Given the description of an element on the screen output the (x, y) to click on. 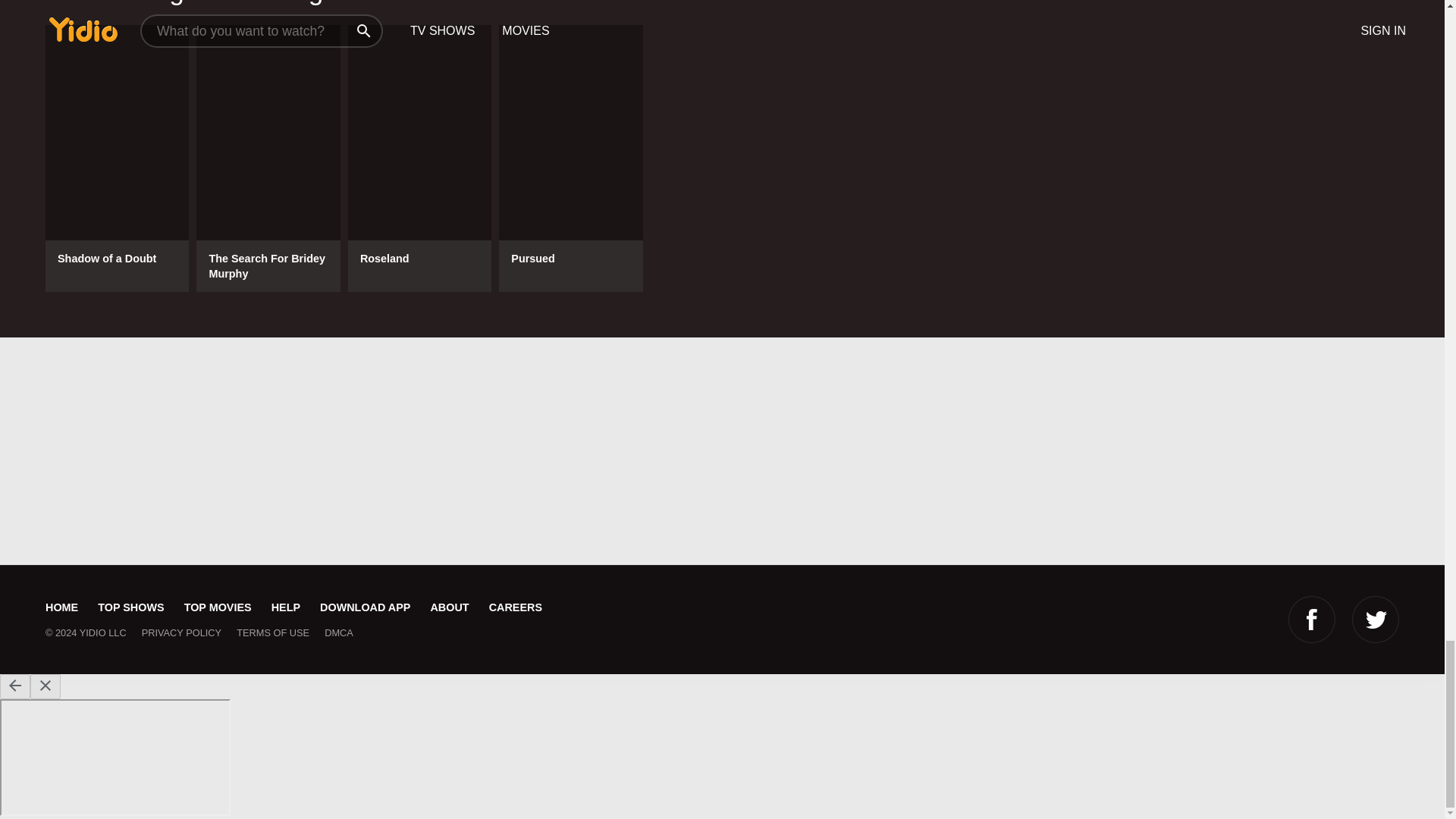
Twitter (1375, 619)
Facebook (1311, 619)
